Given the description of an element on the screen output the (x, y) to click on. 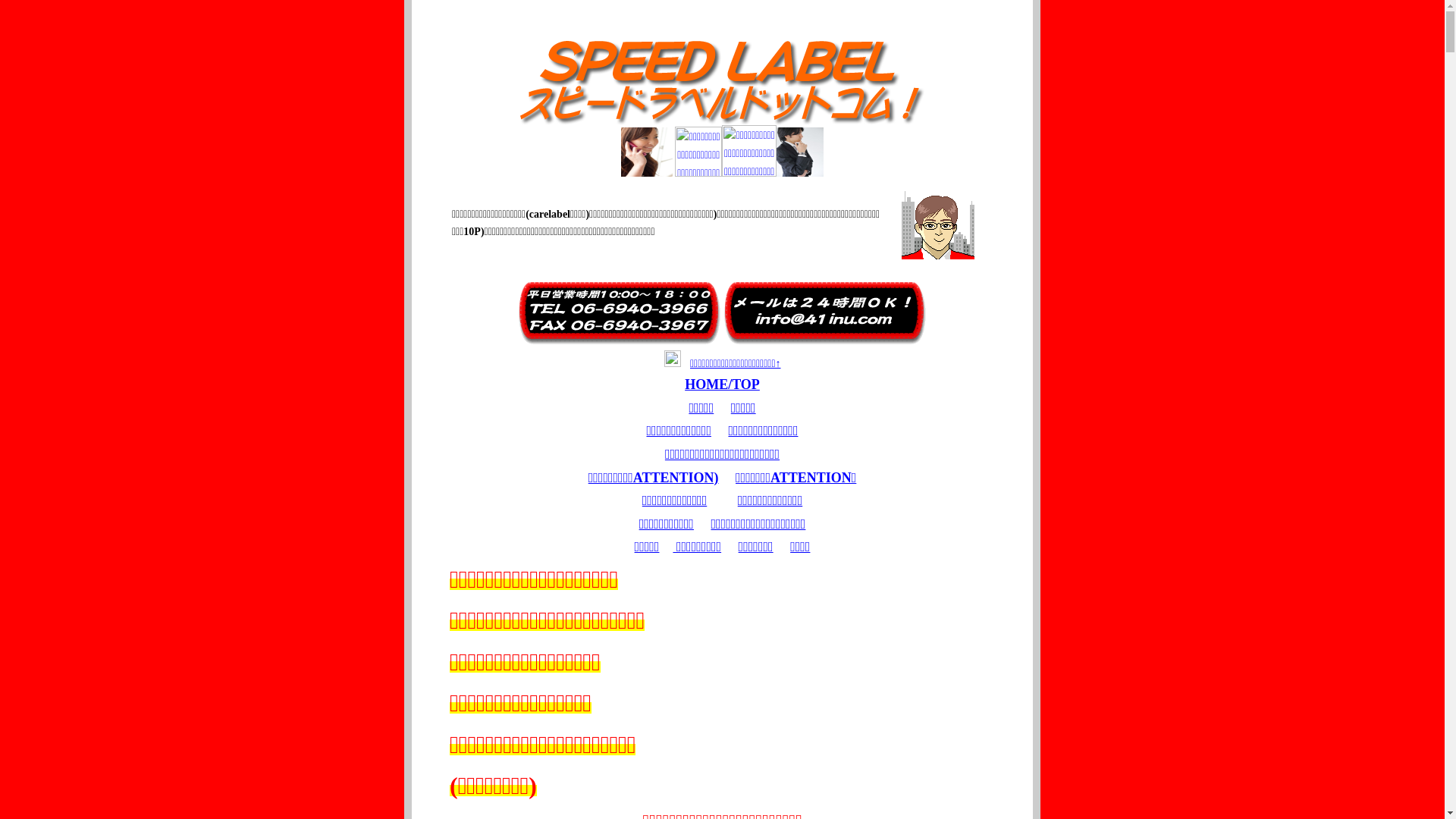
HOME/TOP Element type: text (721, 384)
